Given the description of an element on the screen output the (x, y) to click on. 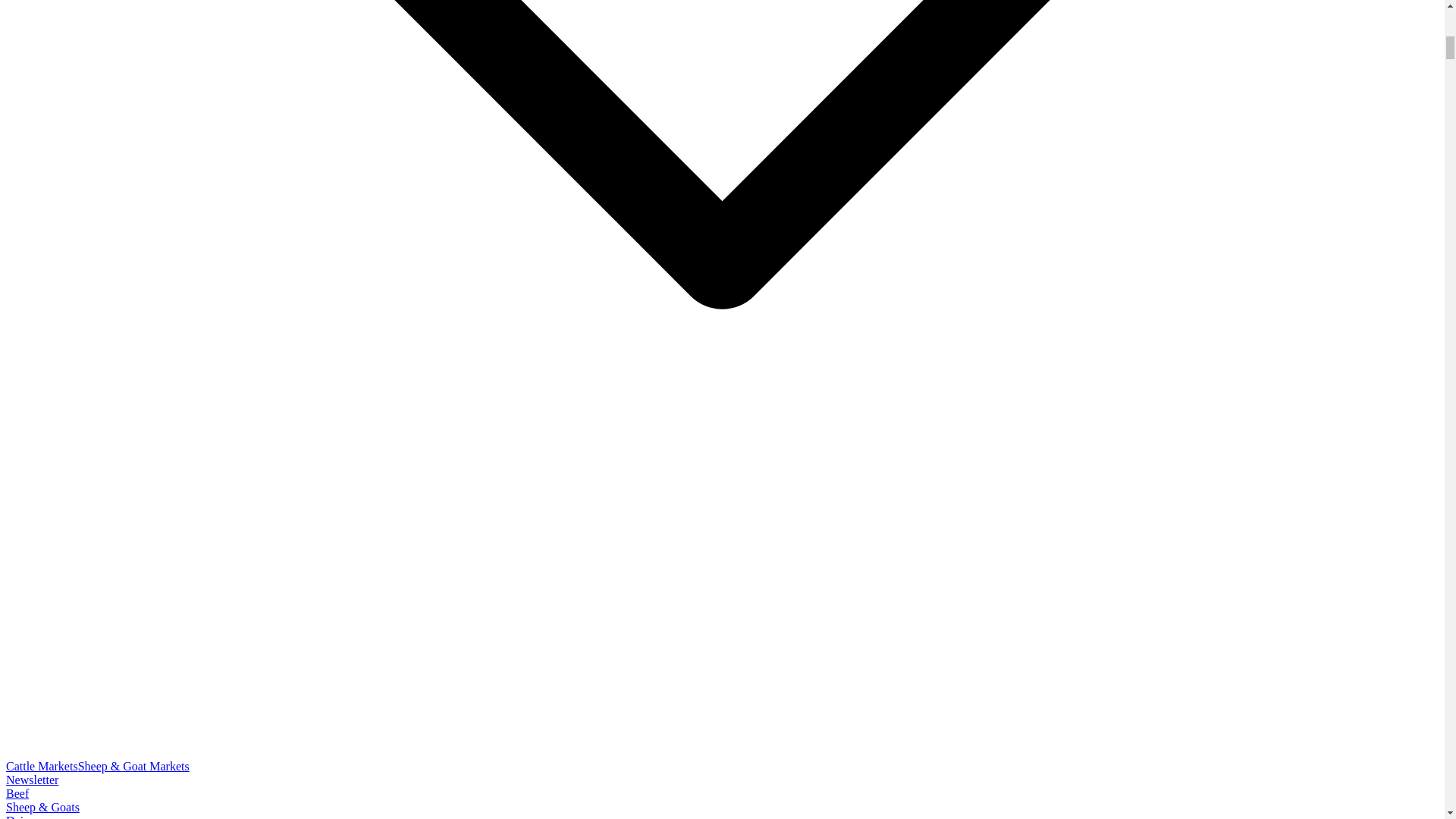
Cattle Markets (41, 766)
Newsletter (31, 779)
Beef (17, 793)
Dairy (19, 816)
